Given the description of an element on the screen output the (x, y) to click on. 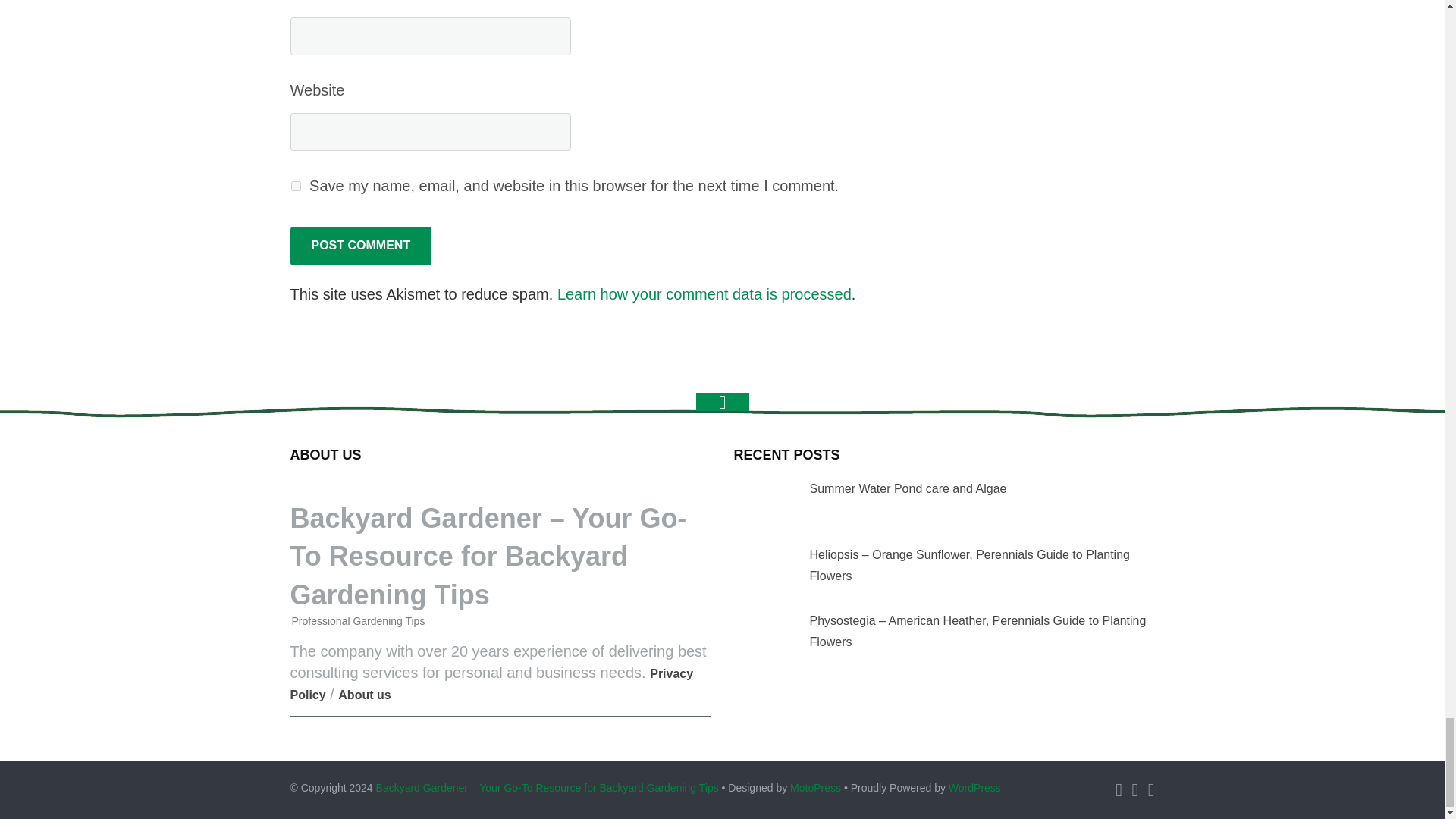
Summer Water Pond care and Algae (761, 503)
Premium WordPress Plugins and Themes (815, 787)
Post Comment (359, 245)
yes (296, 185)
